Given the description of an element on the screen output the (x, y) to click on. 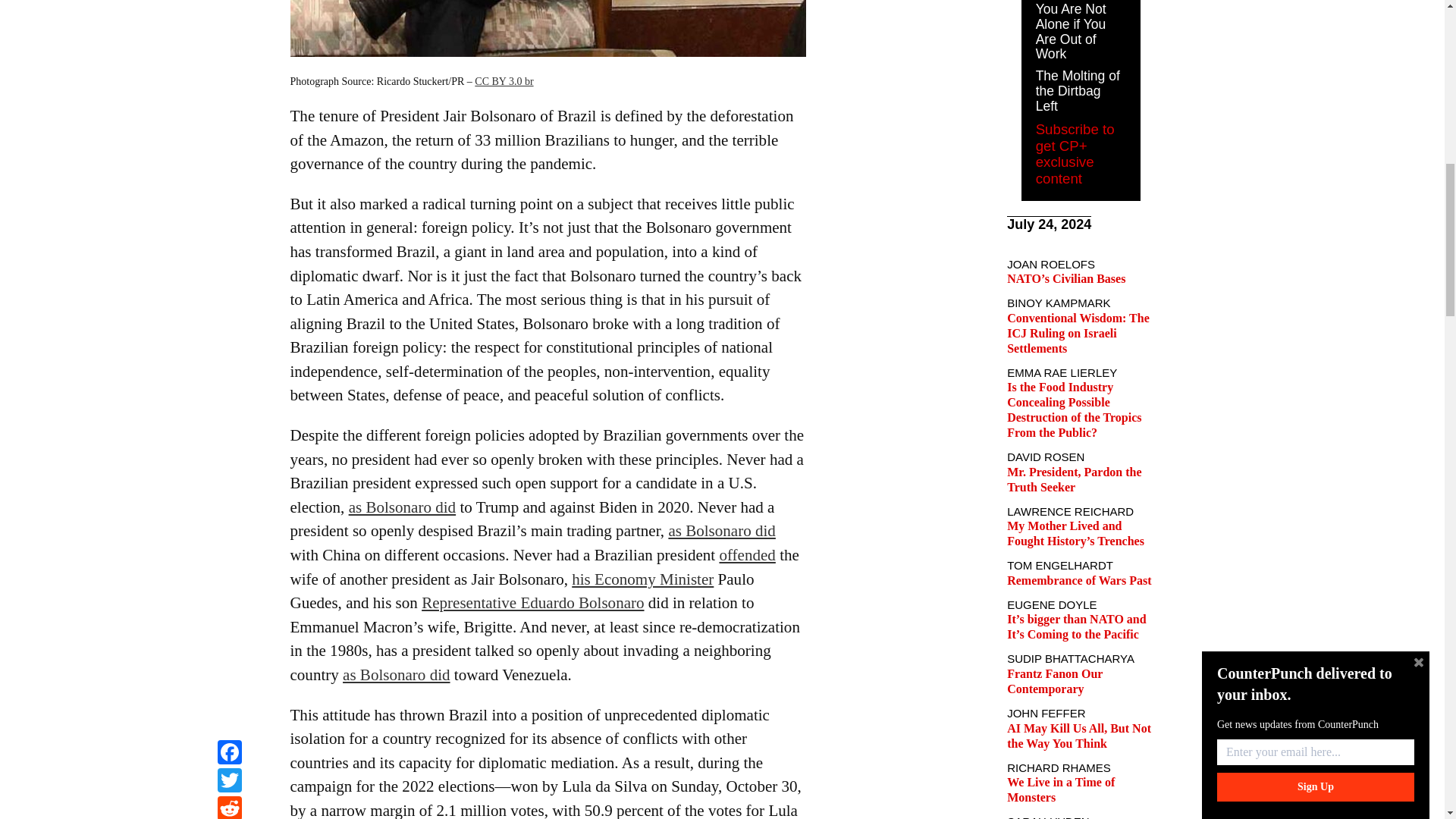
his Economy Minister (642, 579)
offended (746, 555)
as Bolsonaro did (402, 506)
Email (229, 18)
Email (229, 18)
CC BY 3.0 br (503, 81)
Representative Eduardo Bolsonaro (532, 602)
as Bolsonaro did (721, 530)
Reddit (229, 2)
as Bolsonaro did (395, 674)
Reddit (229, 2)
